Given the description of an element on the screen output the (x, y) to click on. 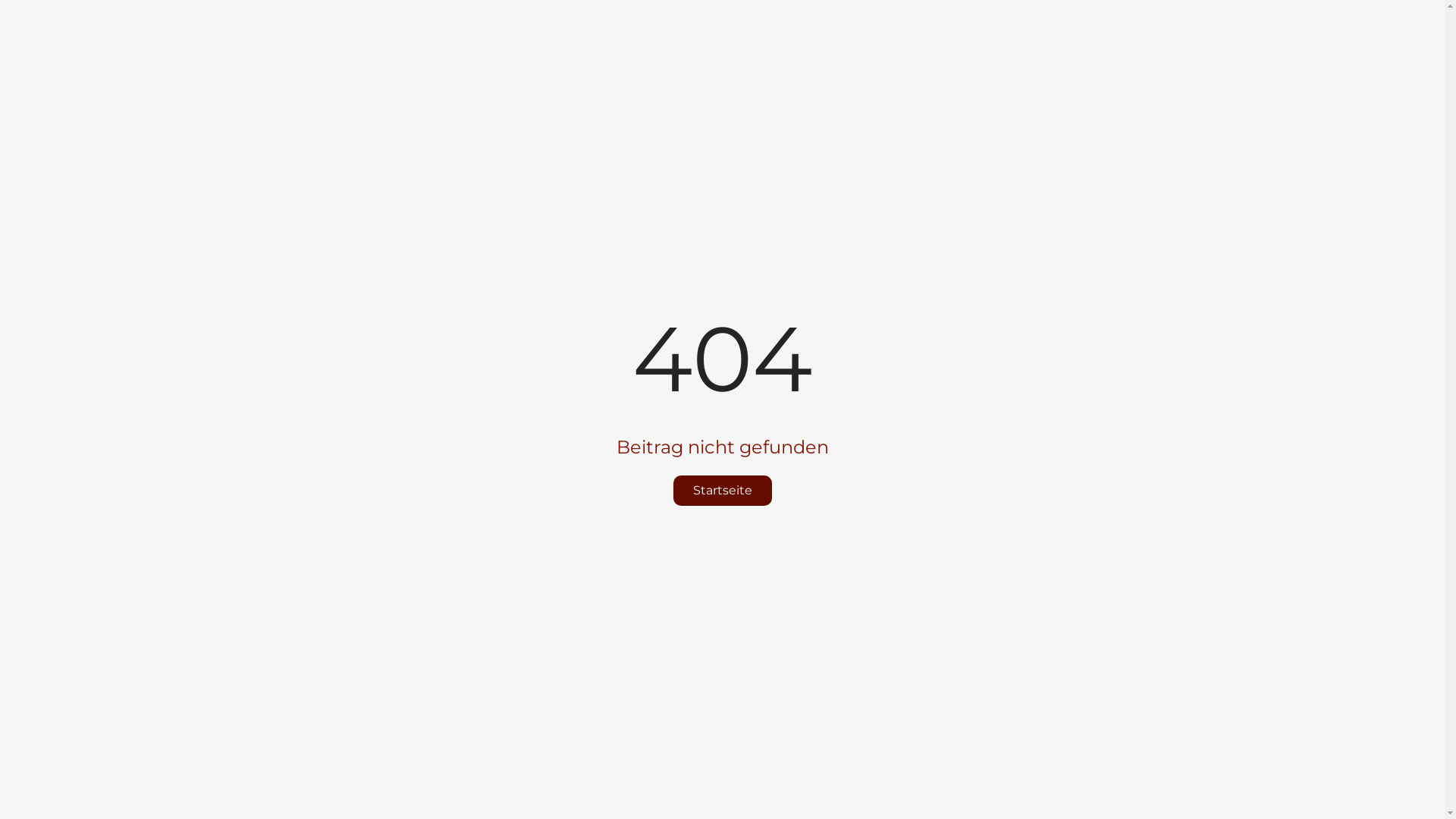
Startseite Element type: text (722, 490)
